Given the description of an element on the screen output the (x, y) to click on. 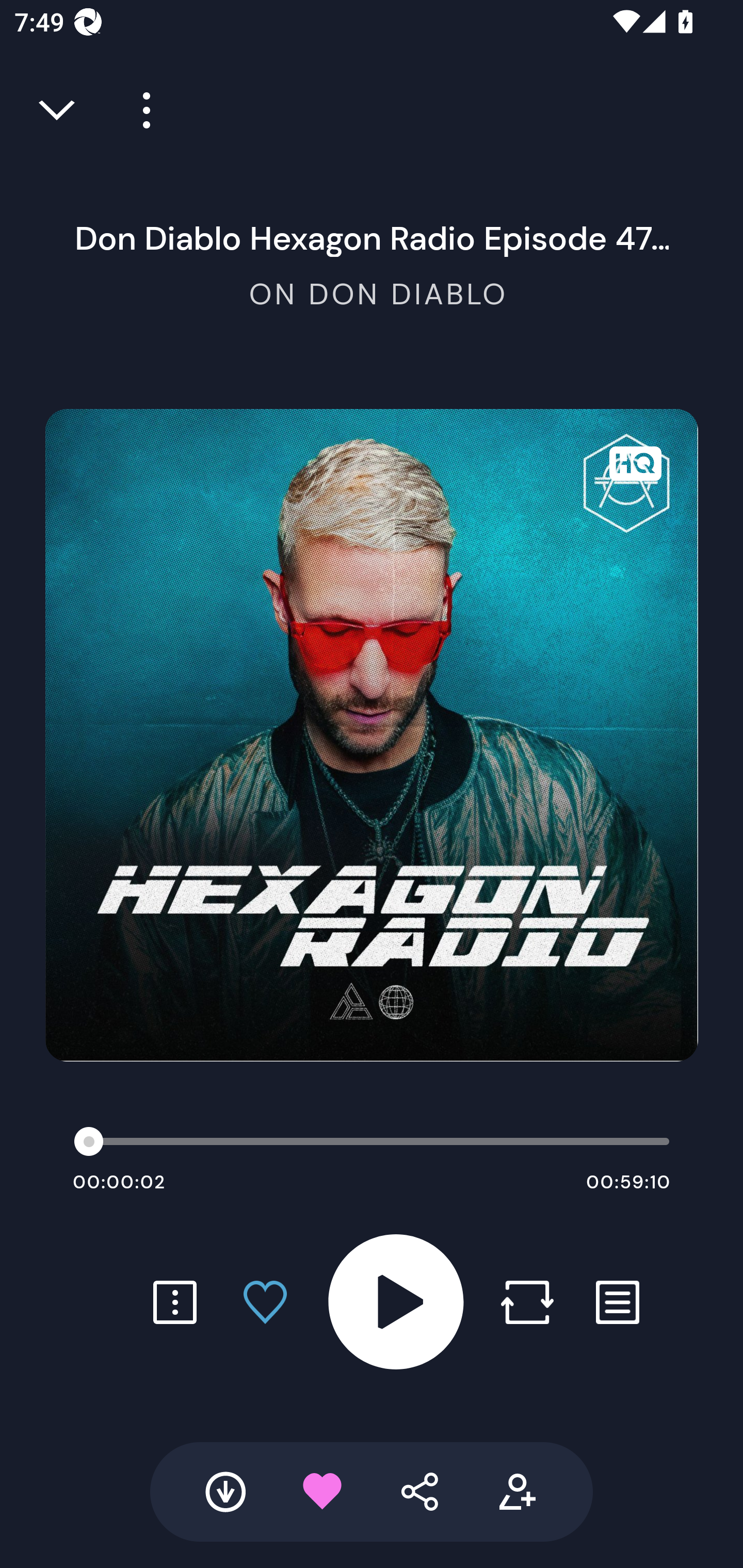
Close full player (58, 110)
Player more options button (139, 110)
Repost button (527, 1301)
